Given the description of an element on the screen output the (x, y) to click on. 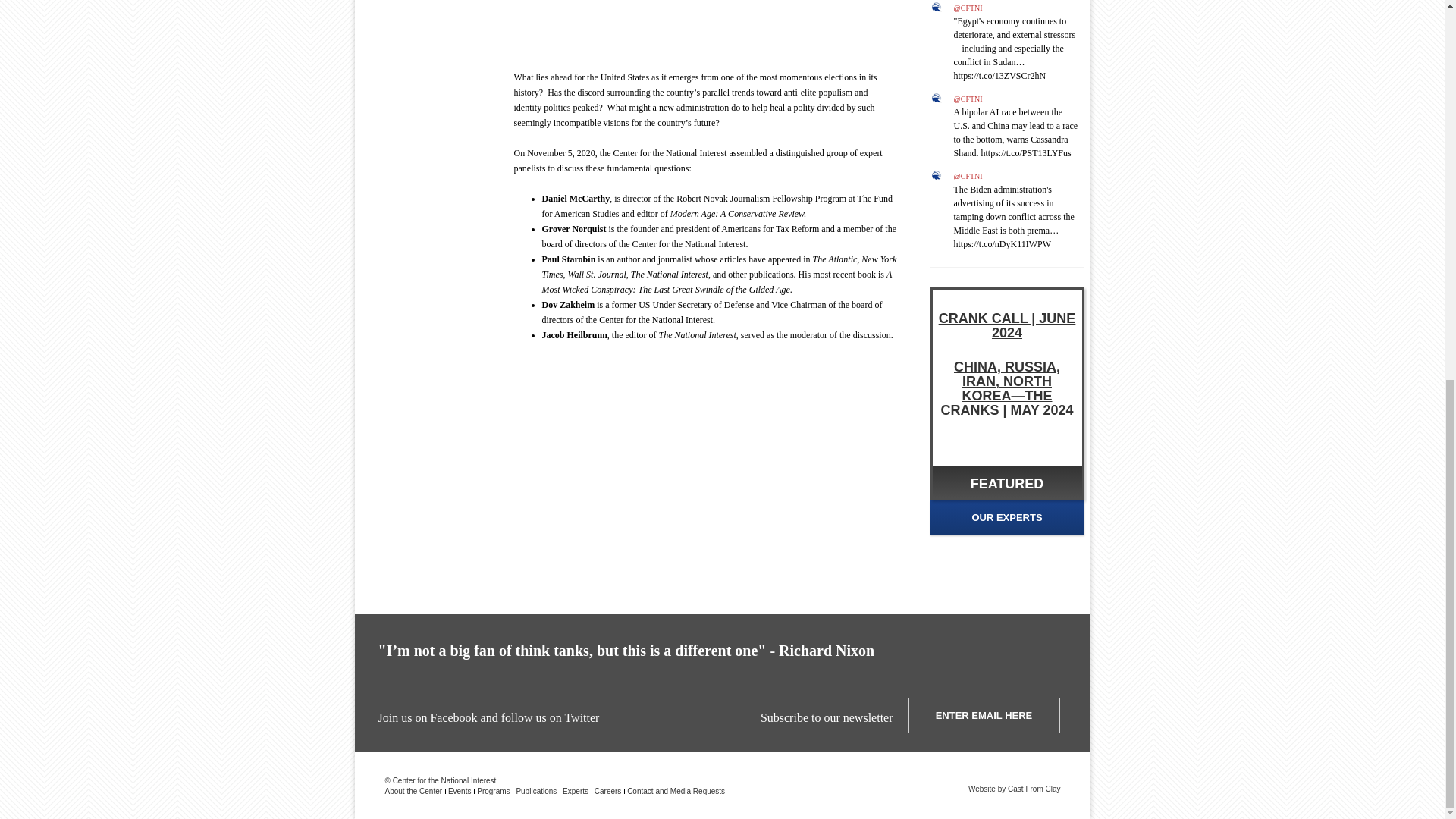
America's Post-Election Landscape: Dawn or Dysfunction? (706, 28)
